Given the description of an element on the screen output the (x, y) to click on. 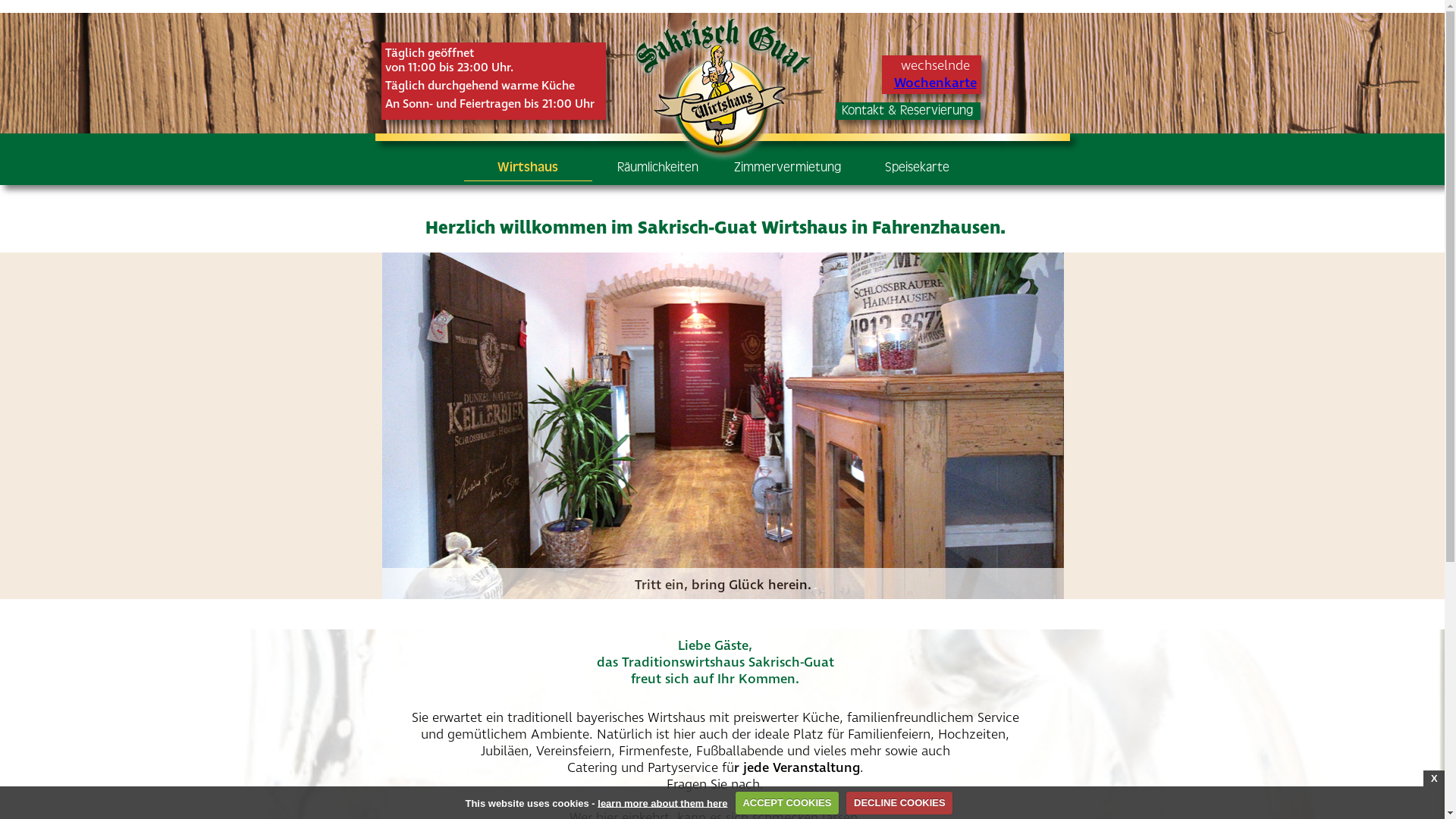
learn more about them here Element type: text (662, 802)
ACCEPT COOKIES Element type: text (787, 802)
Wirtshaus Element type: text (528, 167)
Speisekarte Element type: text (916, 167)
Zimmervermietung Element type: text (787, 167)
Kontakt & Reservierung Element type: text (907, 110)
Wochenkarte Element type: text (934, 82)
DECLINE COOKIES Element type: text (899, 802)
